Given the description of an element on the screen output the (x, y) to click on. 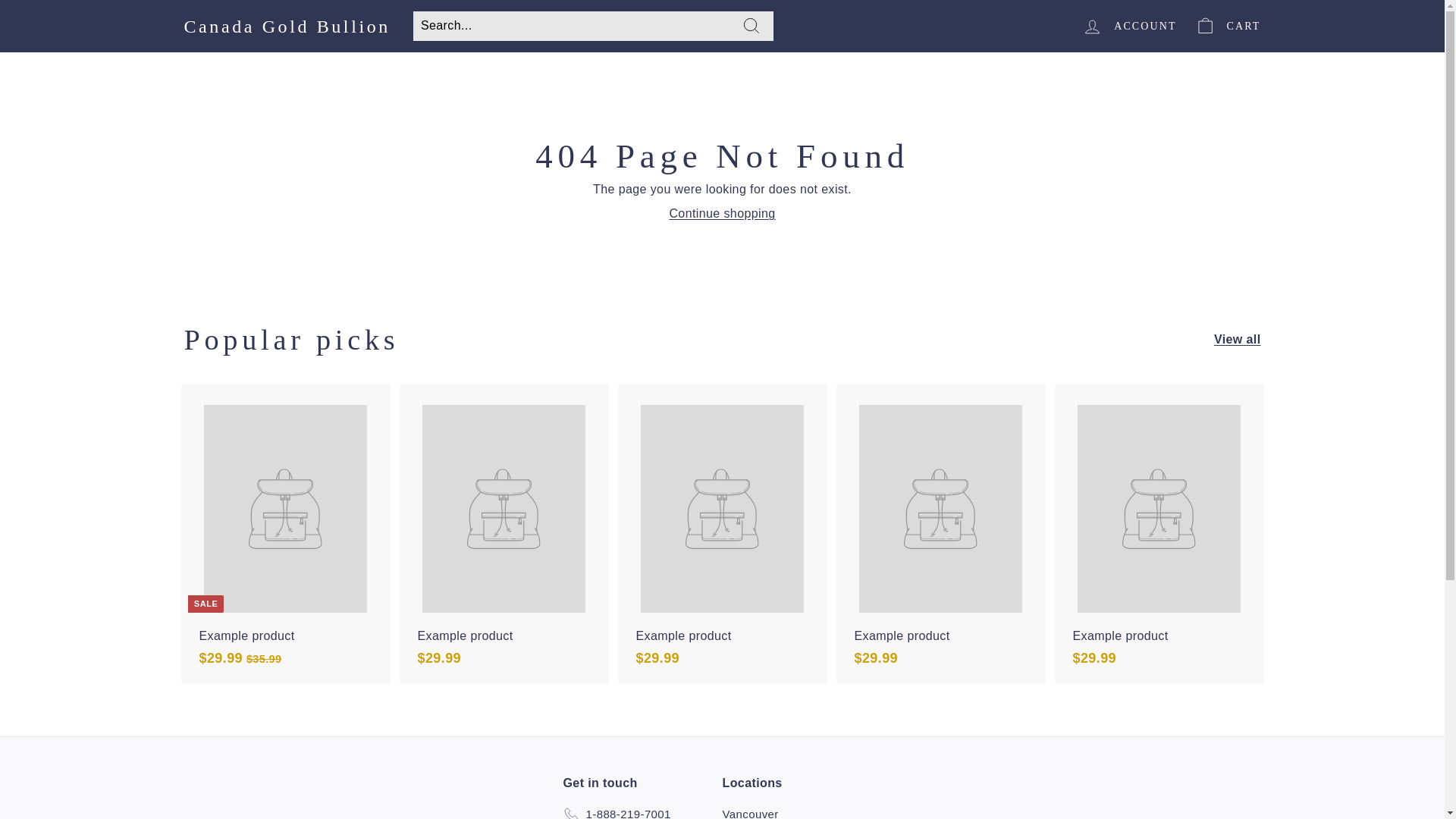
Vancouver (749, 811)
1-888-219-7001 (615, 811)
Continue shopping (721, 213)
View all (1237, 339)
ACCOUNT (1129, 26)
Canada Gold Bullion (286, 25)
